Given the description of an element on the screen output the (x, y) to click on. 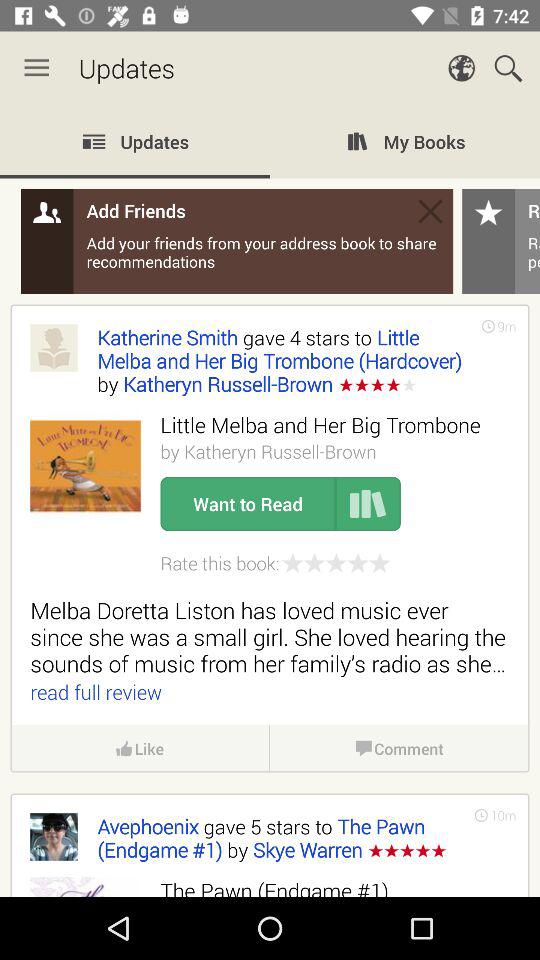
open the read full review icon (96, 691)
